Given the description of an element on the screen output the (x, y) to click on. 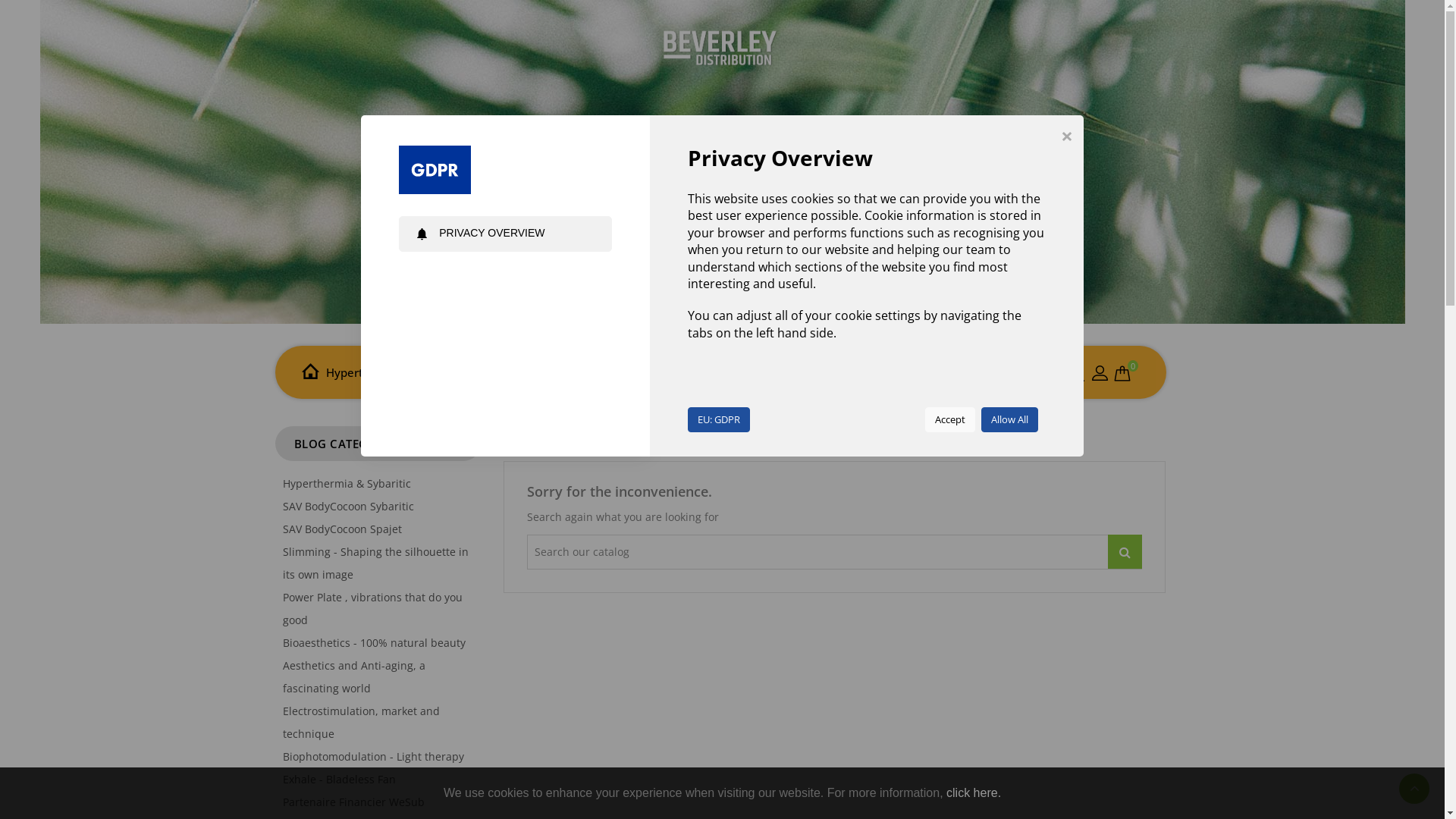
EU: GDPR Element type: text (718, 419)
SAV BodyCocoon Spajet Element type: text (341, 528)
Allow All Element type: text (1009, 419)
Technologies Element type: text (531, 371)
Exhale - Bladeless Fan Element type: text (338, 778)
Nutrition Element type: text (748, 371)
Power Plate , vibrations that do you good Element type: text (371, 608)
Find A Center Element type: text (887, 372)
Blog Element type: text (796, 371)
Biophotomodulation - Light therapy Element type: text (372, 756)
Tips! Element type: text (830, 371)
click here. Element type: text (973, 792)
Slimming - Shaping the silhouette in its own image Element type: text (374, 562)
Cosmetics Element type: text (604, 371)
Accept Element type: text (950, 419)
Starvac Element type: text (431, 371)
Consumables Element type: text (678, 371)
Aesthetics and Anti-aging, a fascinating world Element type: text (353, 676)
Partenaire Financier WeSub Element type: text (352, 801)
Hyperthermia & Sybaritic Element type: text (346, 483)
Bioaesthetics - 100% natural beauty Element type: text (373, 642)
notifications
PRIVACY OVERVIEW Element type: text (504, 233)
Electrostimulation, market and technique Element type: text (360, 721)
EMS Element type: text (474, 371)
Hyperthermia Element type: text (362, 371)
SAV BodyCocoon Sybaritic Element type: text (347, 505)
CART
0 Element type: text (1122, 373)
